Given the description of an element on the screen output the (x, y) to click on. 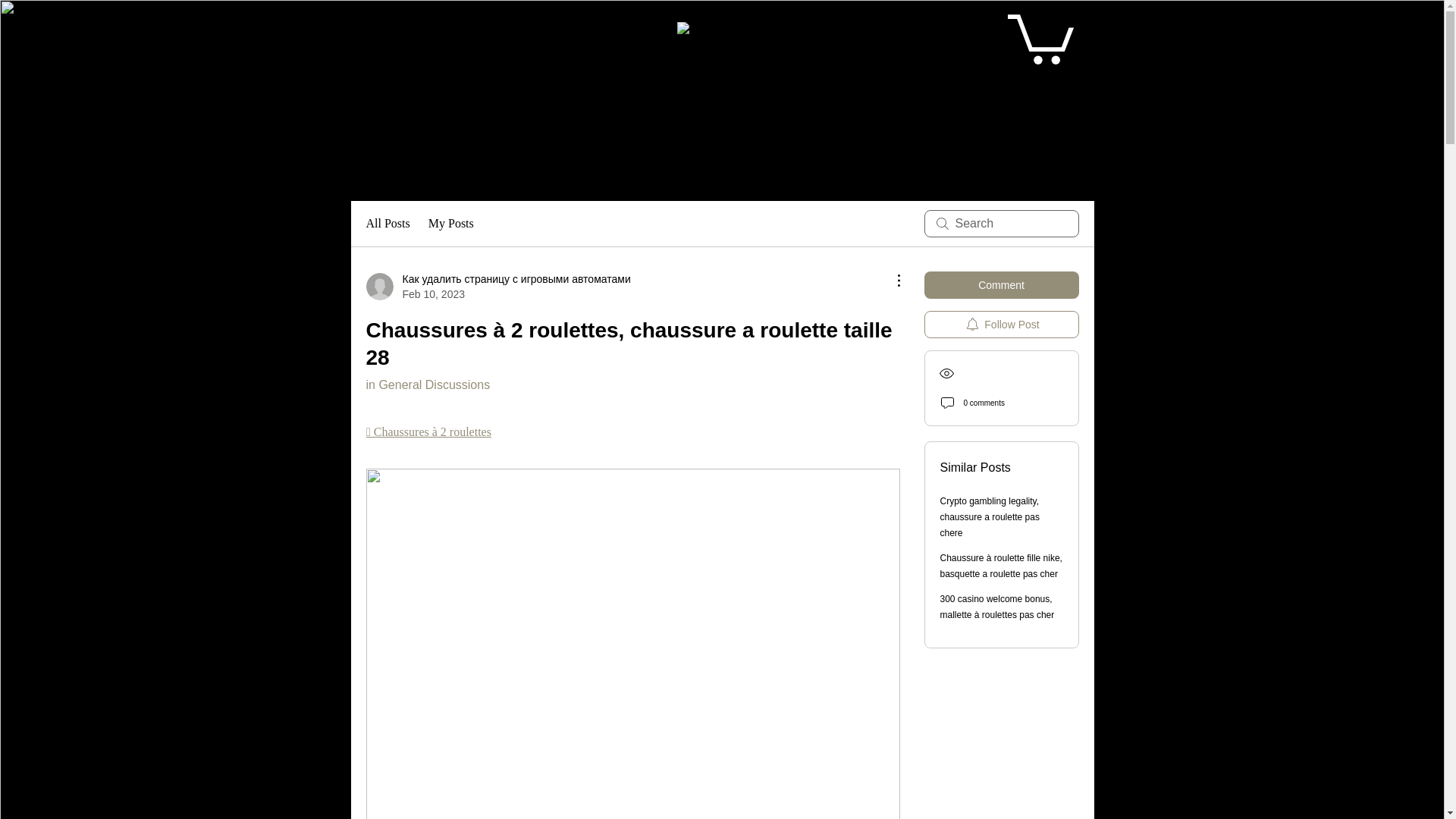
Comment (1000, 284)
Follow Post (1000, 324)
Crypto gambling legality, chaussure a roulette pas chere (989, 517)
All Posts (387, 223)
My Posts (451, 223)
in General Discussions (427, 384)
